Given the description of an element on the screen output the (x, y) to click on. 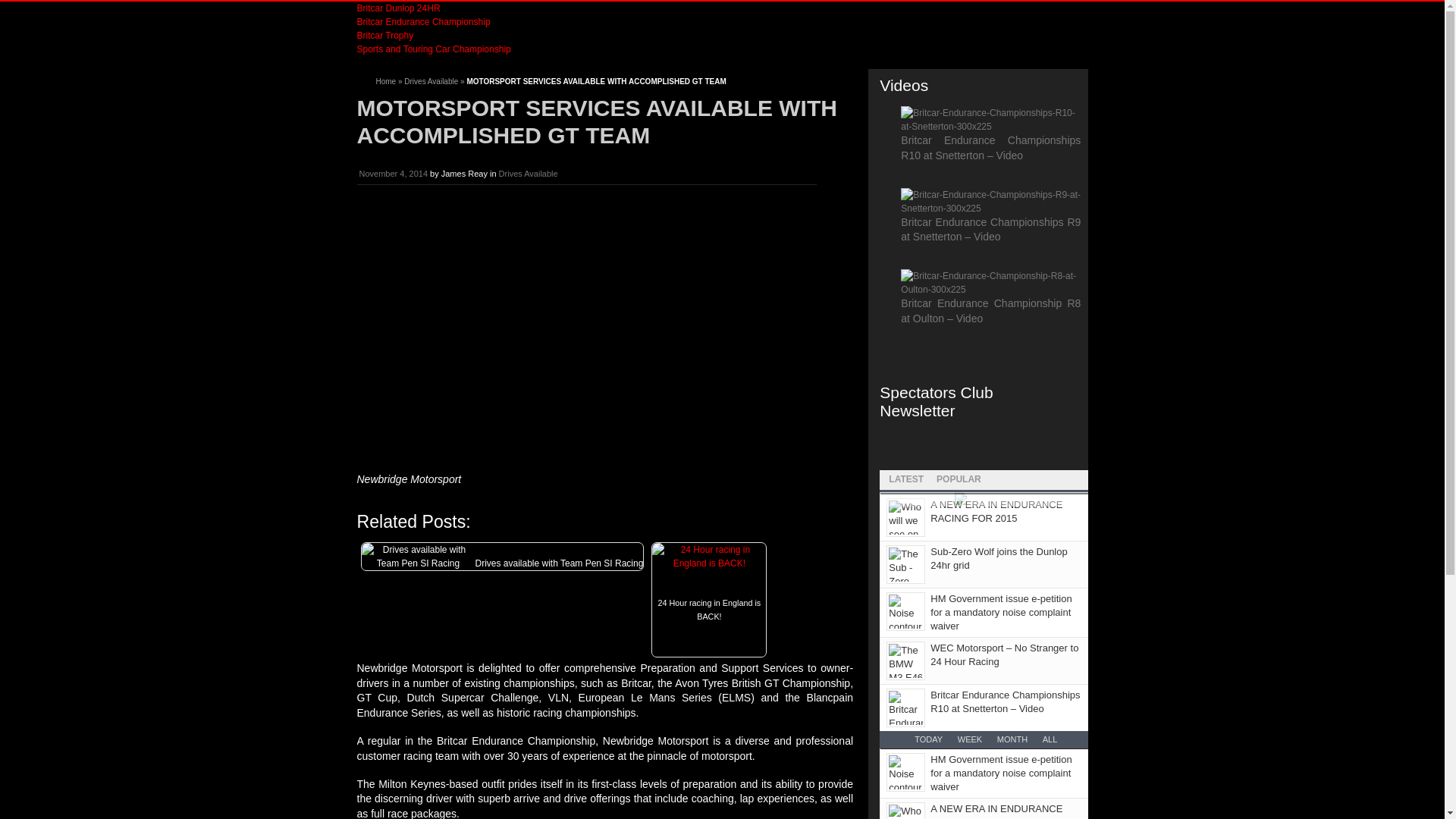
ALL (1050, 738)
A NEW ERA IN ENDURANCE RACING FOR 2015 (996, 511)
24 Hour racing in England is BACK! (708, 626)
Britcar Endurance Championship (422, 21)
WEEK (969, 738)
MONTH (1012, 738)
A NEW ERA IN ENDURANCE RACING FOR 2015 (996, 811)
A NEW ERA IN ENDURANCE RACING FOR 2015 (996, 811)
Sports and Touring Car Championship (433, 49)
